Given the description of an element on the screen output the (x, y) to click on. 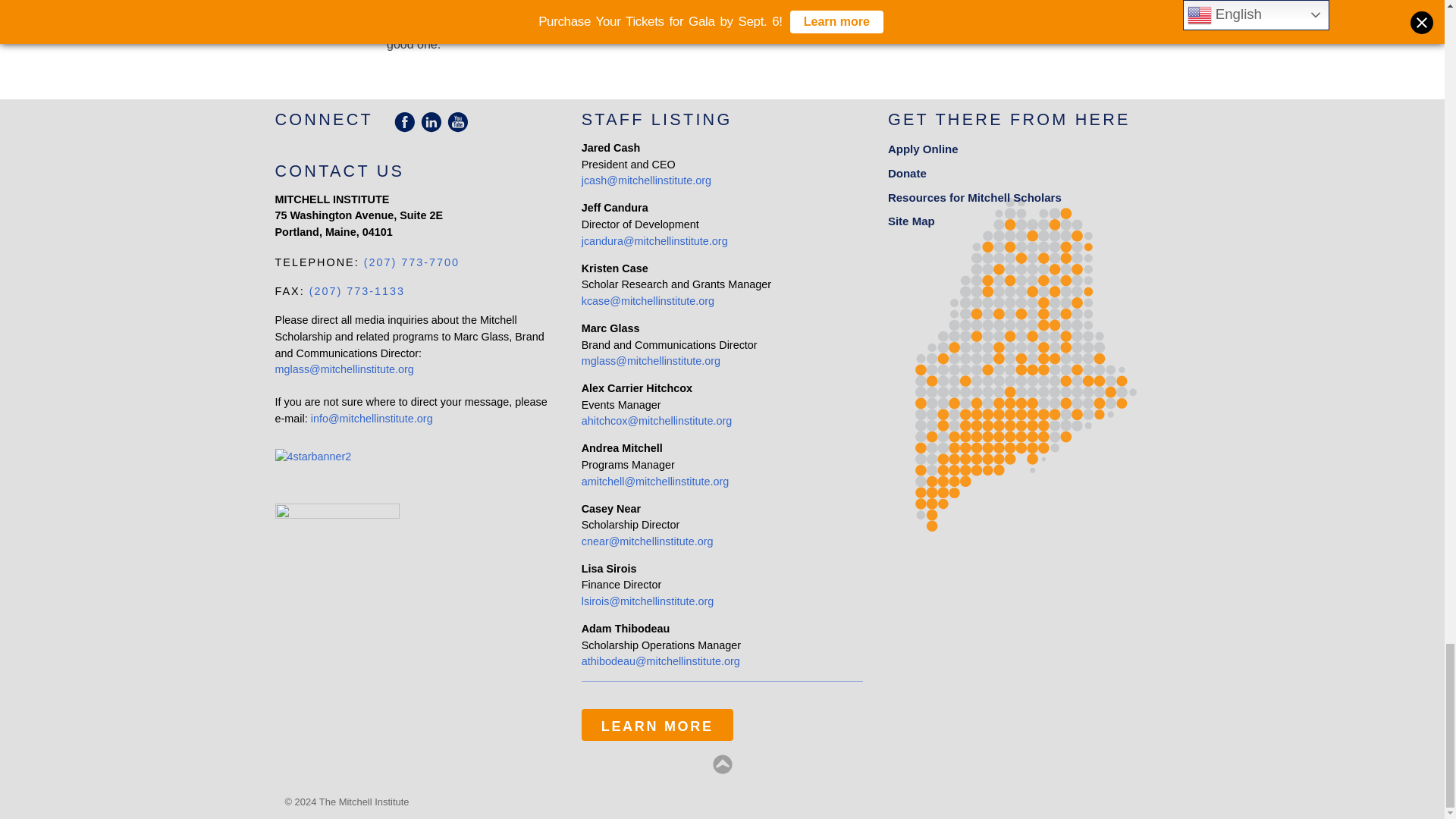
CONTACT US (339, 170)
